Given the description of an element on the screen output the (x, y) to click on. 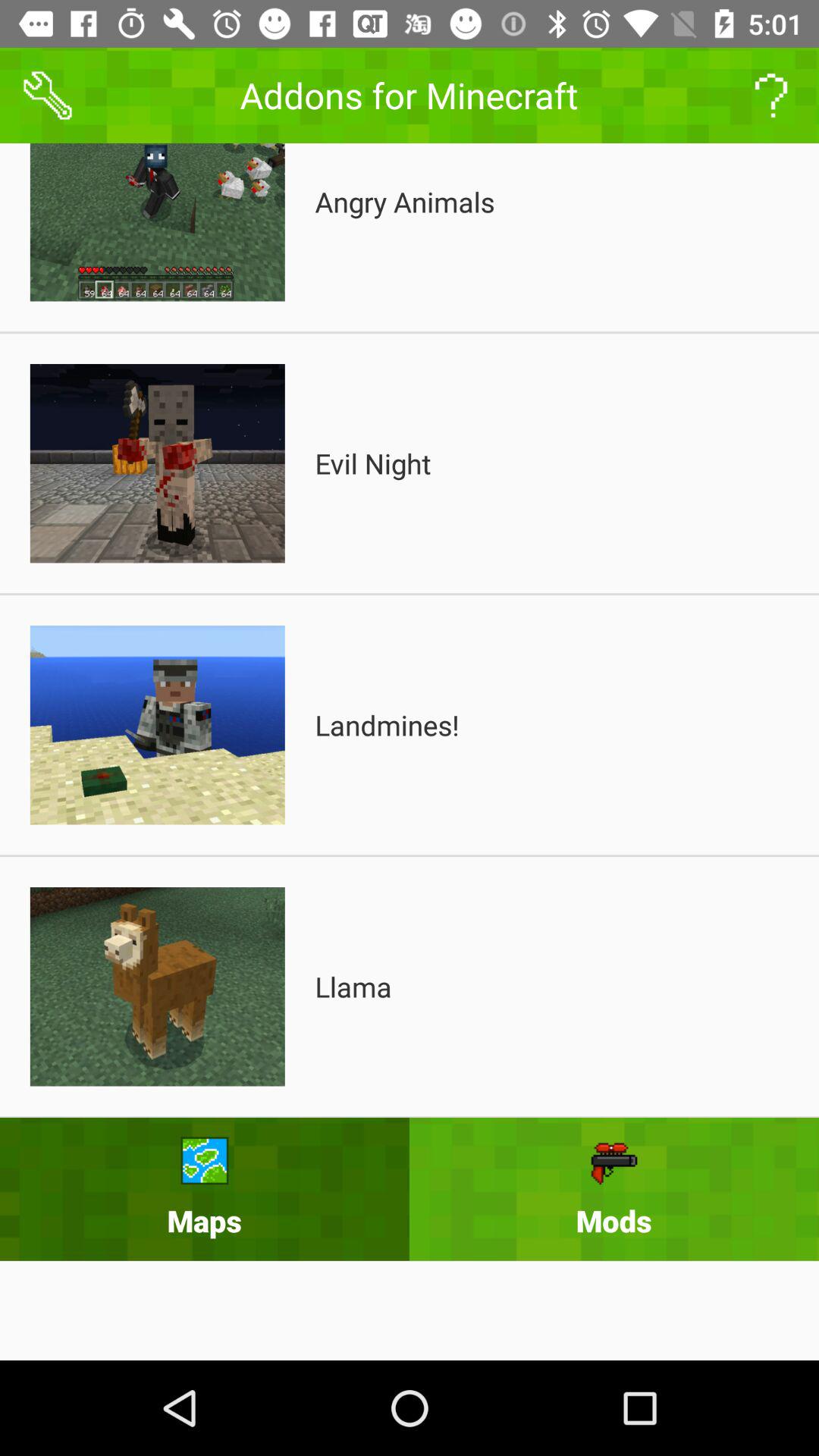
turn on llama icon (353, 986)
